Given the description of an element on the screen output the (x, y) to click on. 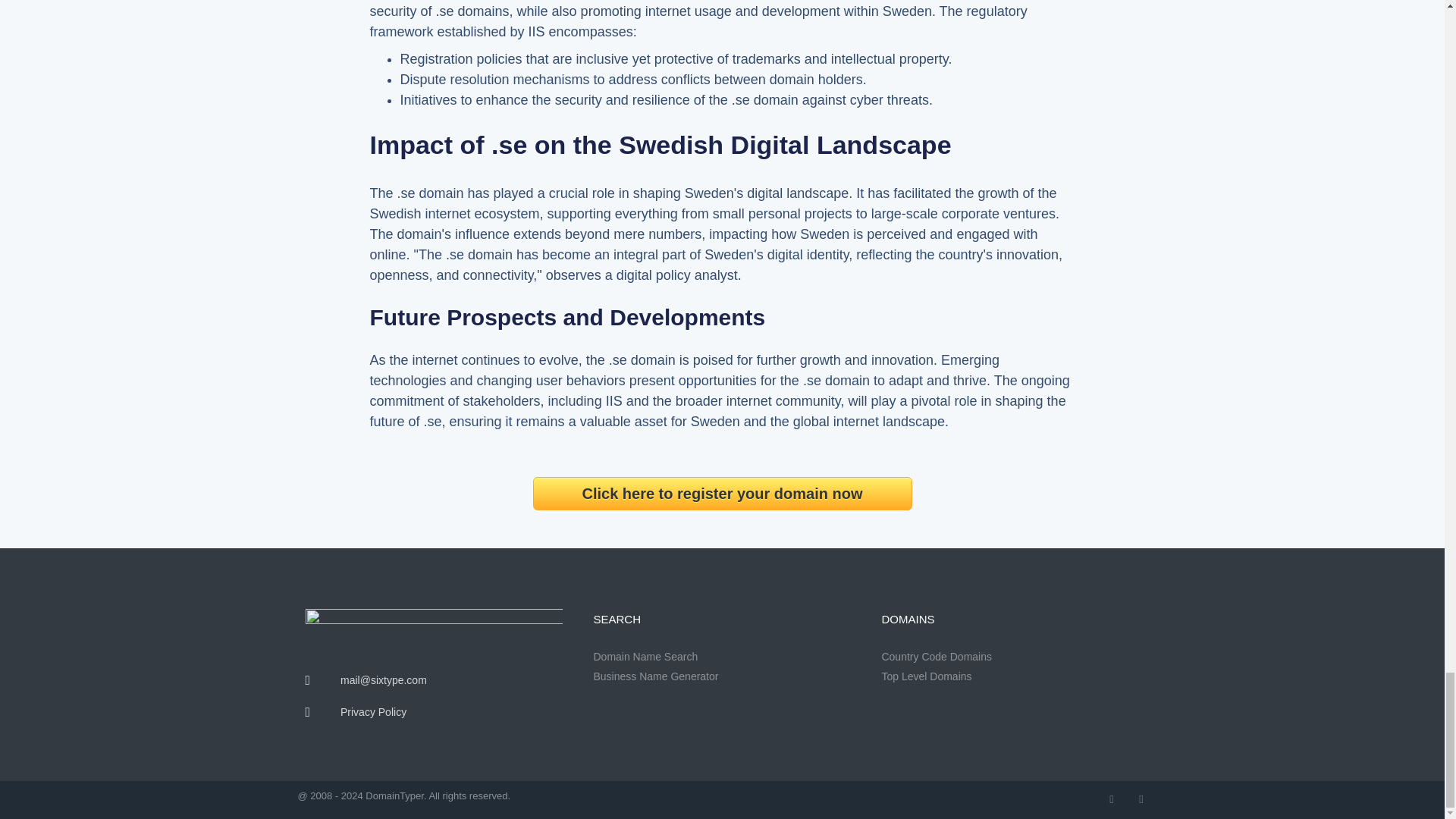
Click here to register your domain now (721, 493)
Top Level Domains (1009, 676)
Business Name Generator (721, 676)
Privacy Policy (433, 712)
Domain Name Search (721, 657)
Country Code Domains (1009, 657)
